Given the description of an element on the screen output the (x, y) to click on. 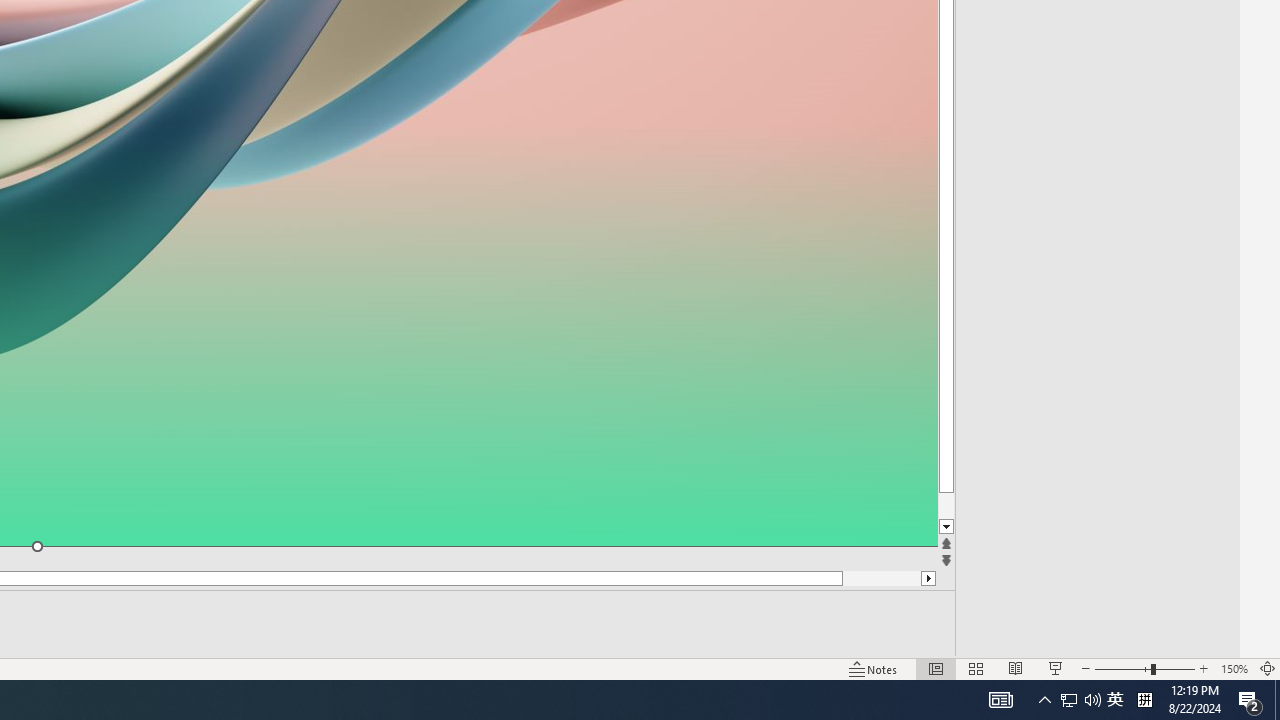
Zoom 150% (1234, 668)
